Given the description of an element on the screen output the (x, y) to click on. 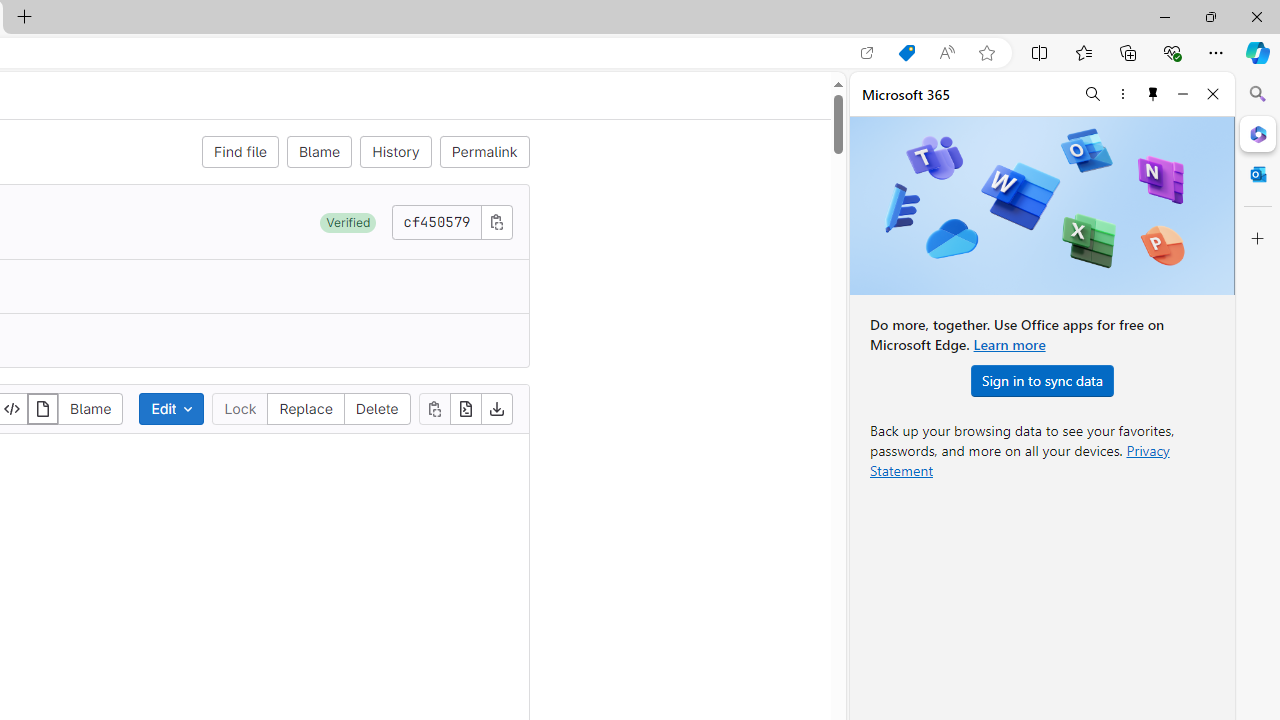
Copy file contents (434, 408)
Blame (90, 408)
Copy commit SHA (496, 221)
Replace (306, 408)
Privacy Statement (1019, 460)
Verified (348, 221)
Blame (319, 151)
Open raw (465, 408)
